Given the description of an element on the screen output the (x, y) to click on. 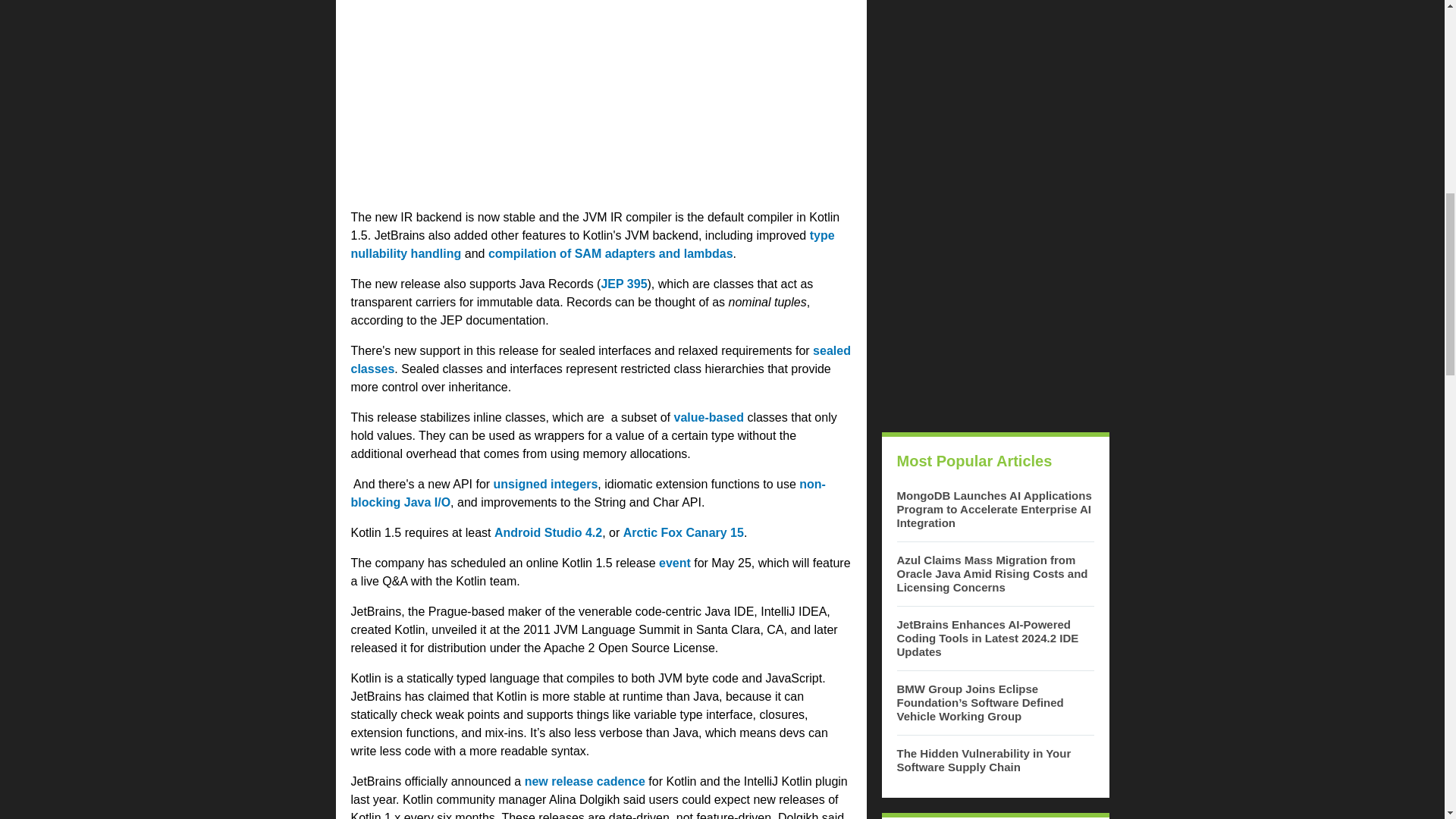
3rd party ad content (600, 101)
type nullability handling (592, 244)
JEP 395 (622, 283)
sealed classes (600, 359)
unsigned integers (545, 483)
value-based (707, 417)
compilation of SAM adapters and lambdas (610, 253)
